Given the description of an element on the screen output the (x, y) to click on. 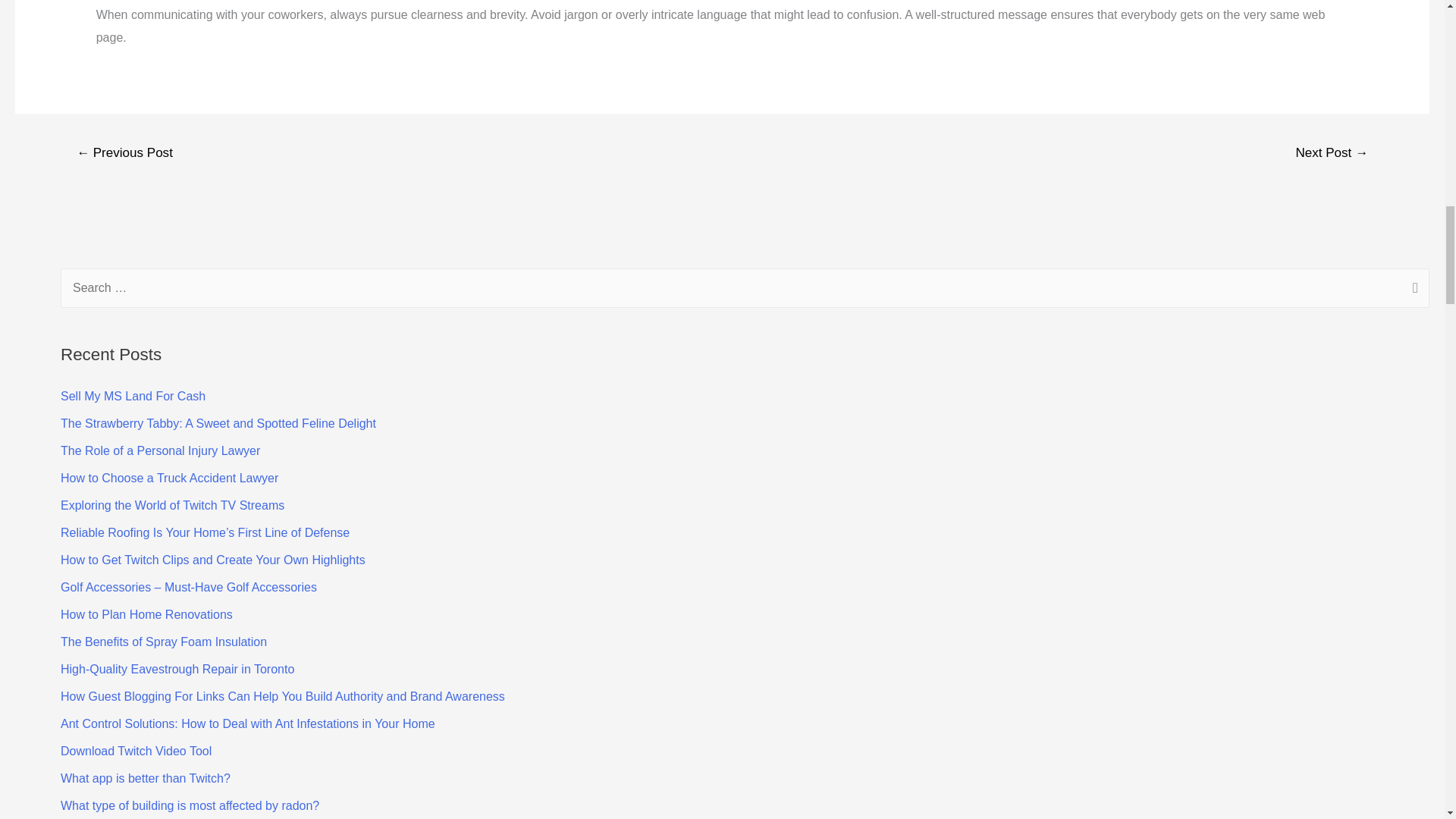
Download Twitch Video Tool (136, 750)
High-Quality Eavestrough Repair in Toronto (177, 668)
Exploring the World of Twitch TV Streams (172, 504)
What app is better than Twitch? (145, 778)
How to Choose a Truck Accident Lawyer (169, 477)
The Role of a Personal Injury Lawyer (160, 450)
Sell My MS Land For Cash (133, 395)
How to Get Twitch Clips and Create Your Own Highlights (213, 559)
The Benefits of Spray Foam Insulation (163, 641)
